Given the description of an element on the screen output the (x, y) to click on. 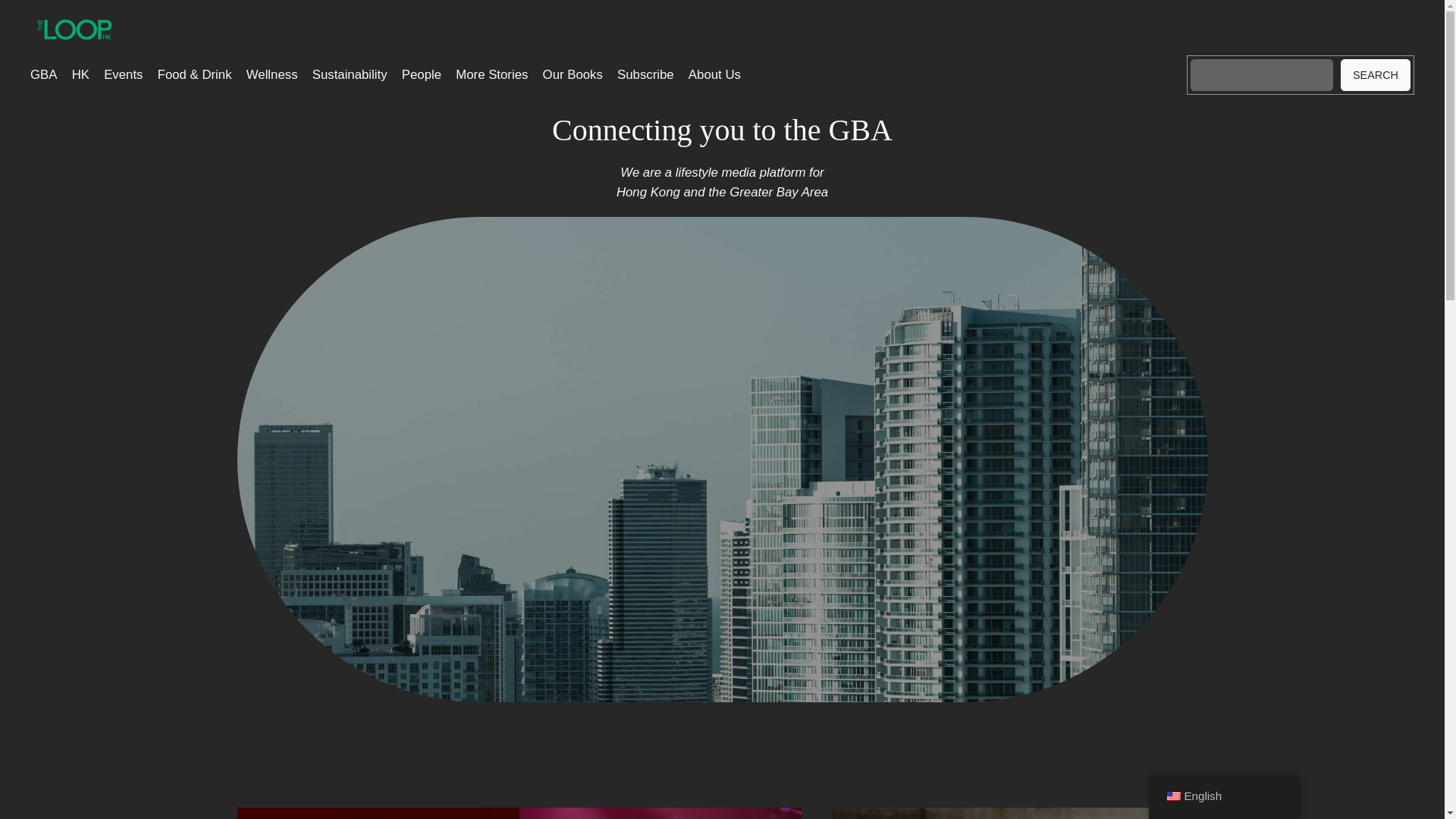
More Stories (491, 75)
Wellness (272, 75)
Subscribe (645, 75)
GBA (43, 75)
About Us (714, 75)
Our Books (572, 75)
Events (122, 75)
English (1172, 795)
Sustainability (350, 75)
People (421, 75)
